Given the description of an element on the screen output the (x, y) to click on. 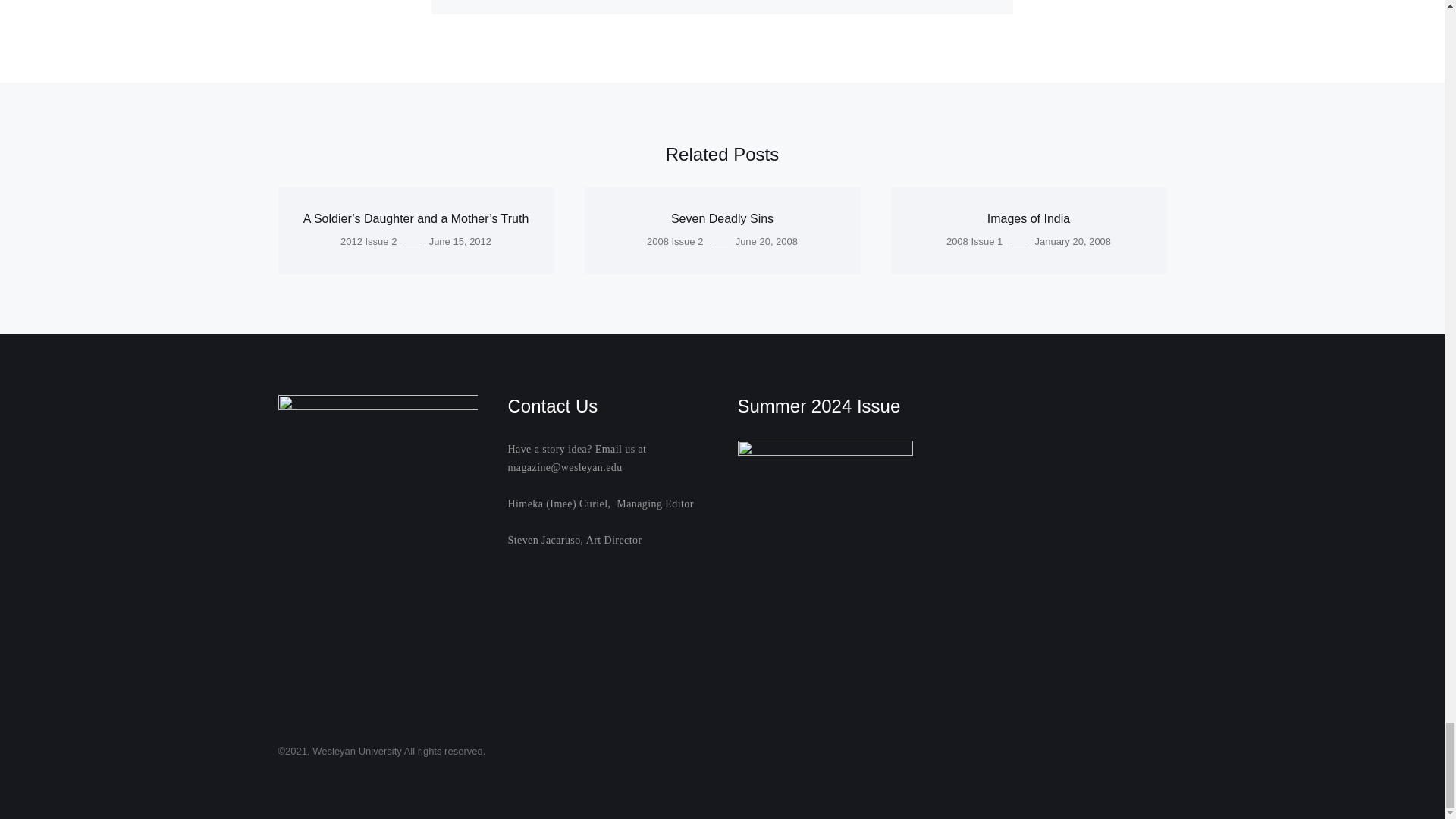
2008 Issue 2 (674, 241)
2012 Issue 2 (368, 241)
2008 Issue 1 (974, 241)
Images of India (1028, 218)
Seven Deadly Sins (722, 218)
